Given the description of an element on the screen output the (x, y) to click on. 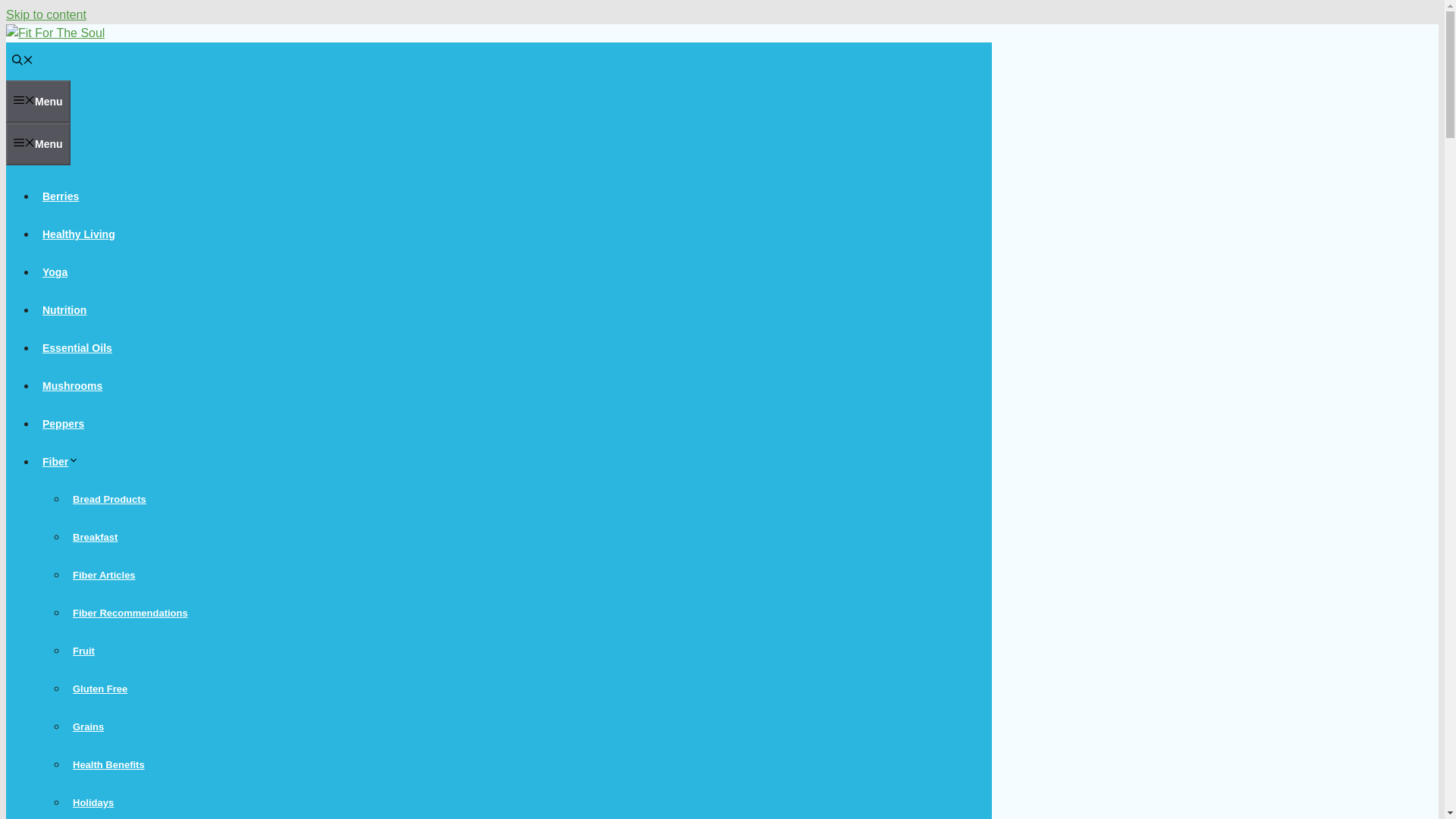
Fruit (83, 651)
Healthy Living (78, 234)
Skip to content (45, 14)
Breakfast (94, 537)
Menu (37, 101)
Grains (88, 726)
Bread Products (109, 499)
Fiber Articles (103, 574)
Fiber Recommendations (129, 612)
Skip to content (45, 14)
